Given the description of an element on the screen output the (x, y) to click on. 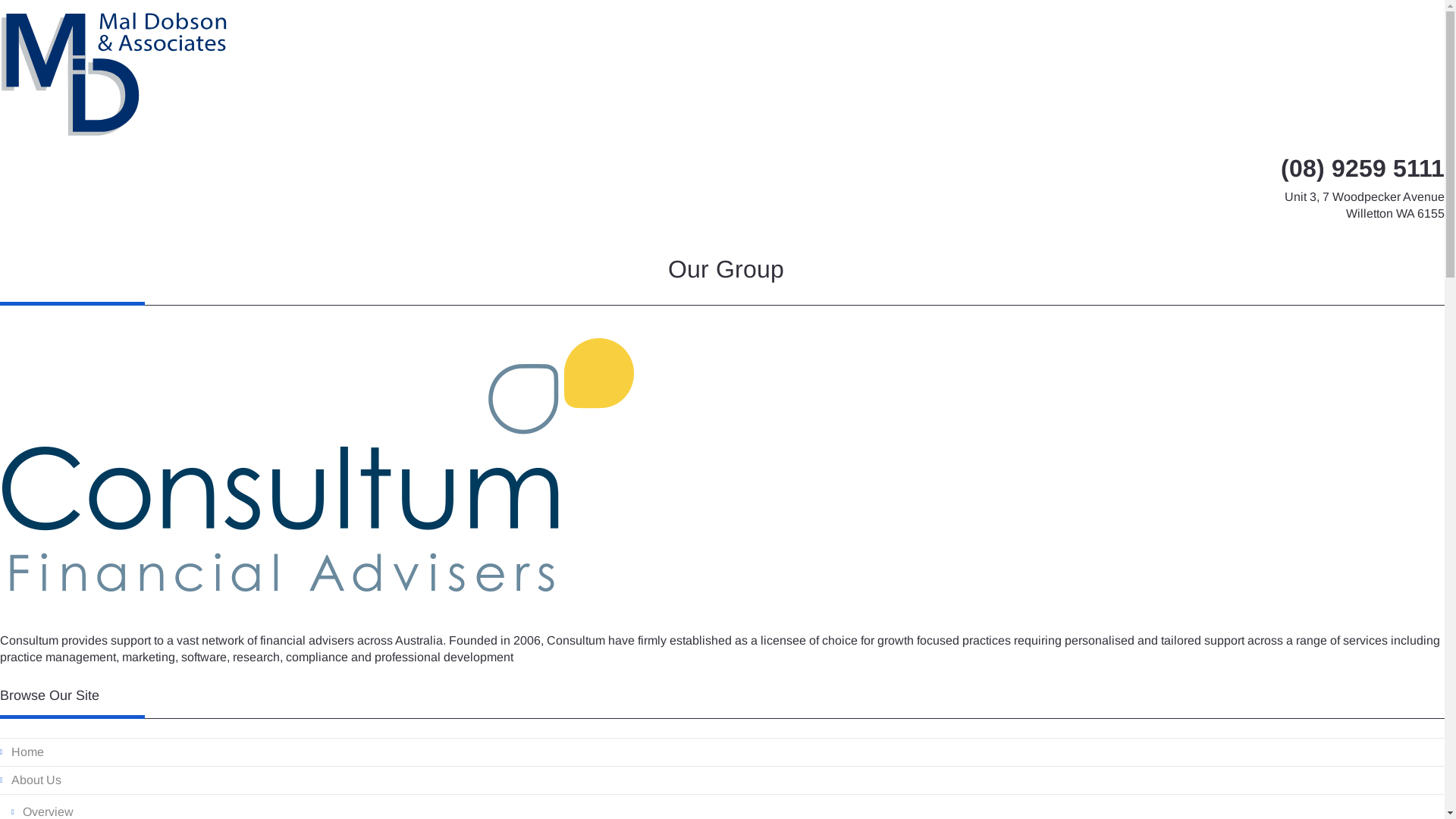
Contact Us Element type: text (619, 253)
About Us Element type: text (107, 253)
Client Resources Element type: text (506, 253)
About Us Element type: text (722, 780)
Home Element type: text (32, 253)
Latest News Element type: text (390, 253)
Home Element type: text (722, 752)
Our Services Element type: text (203, 253)
Why Us? Element type: text (298, 253)
(08) 9259 5111 Element type: text (1362, 168)
